Given the description of an element on the screen output the (x, y) to click on. 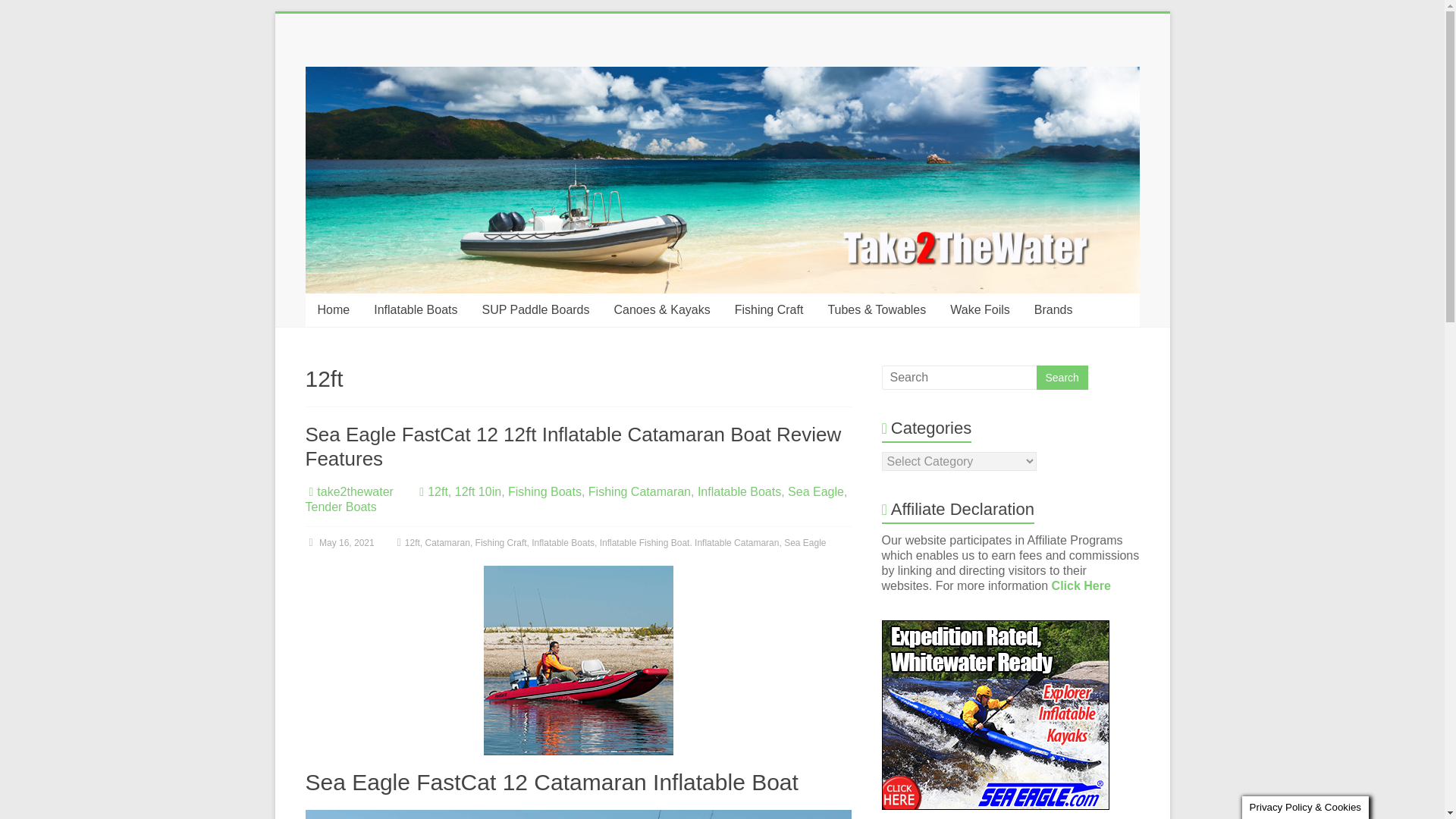
SUP Paddle Boards (534, 309)
Fishing Craft (768, 309)
Take 2 The Water (340, 99)
Search (1061, 377)
5:05 pm (339, 542)
Inflatable Boats (414, 309)
Take 2 The Water (340, 99)
Home (332, 309)
take2thewater (355, 491)
